Given the description of an element on the screen output the (x, y) to click on. 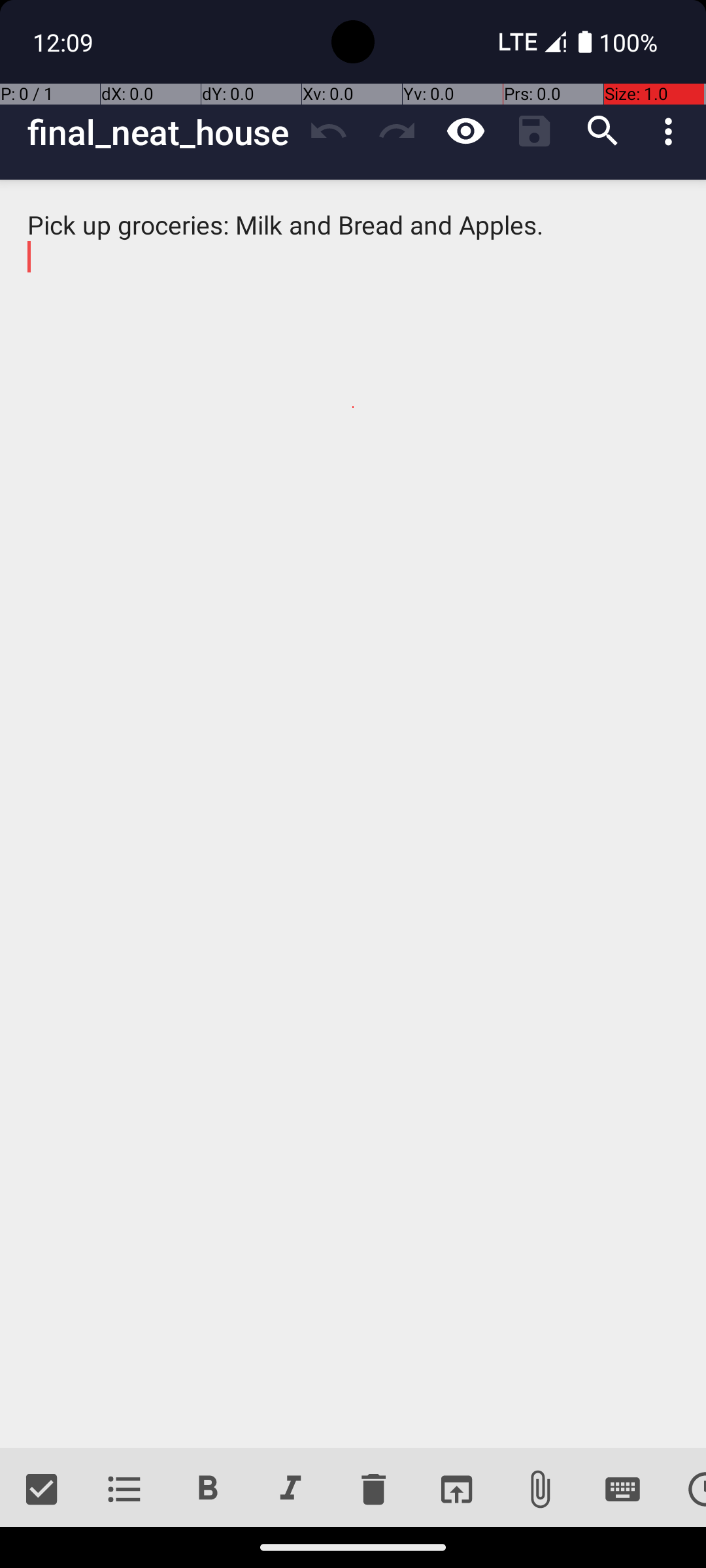
final_neat_house Element type: android.widget.TextView (160, 131)
Pick up groceries: Milk and Bread and Apples.
 Element type: android.widget.EditText (353, 813)
12:09 Element type: android.widget.TextView (64, 41)
